Given the description of an element on the screen output the (x, y) to click on. 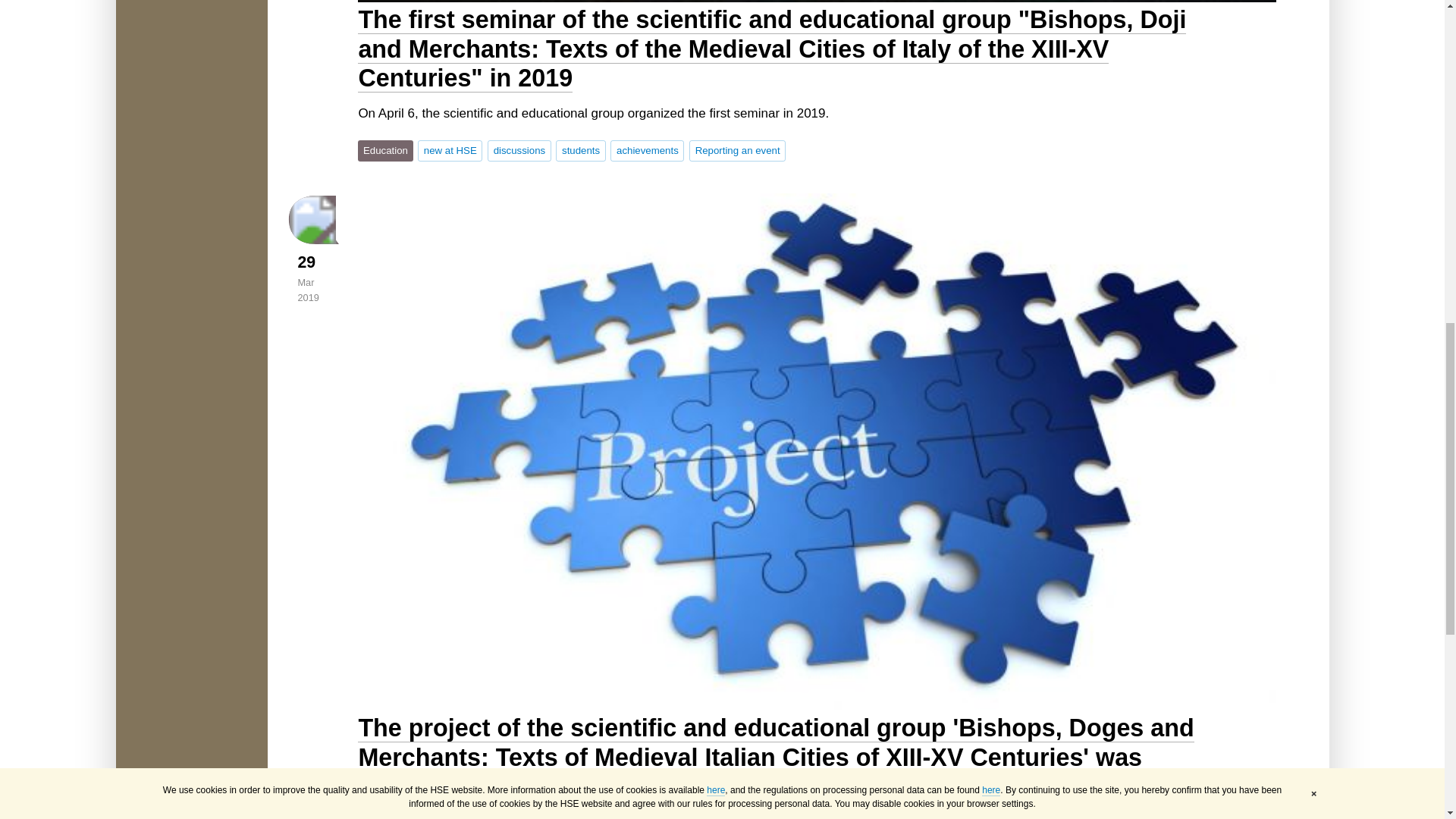
achievements (647, 150)
Education (385, 150)
new at HSE (449, 150)
students (580, 150)
Reporting an event (737, 150)
new at HSE (449, 150)
discussions (519, 150)
